Given the description of an element on the screen output the (x, y) to click on. 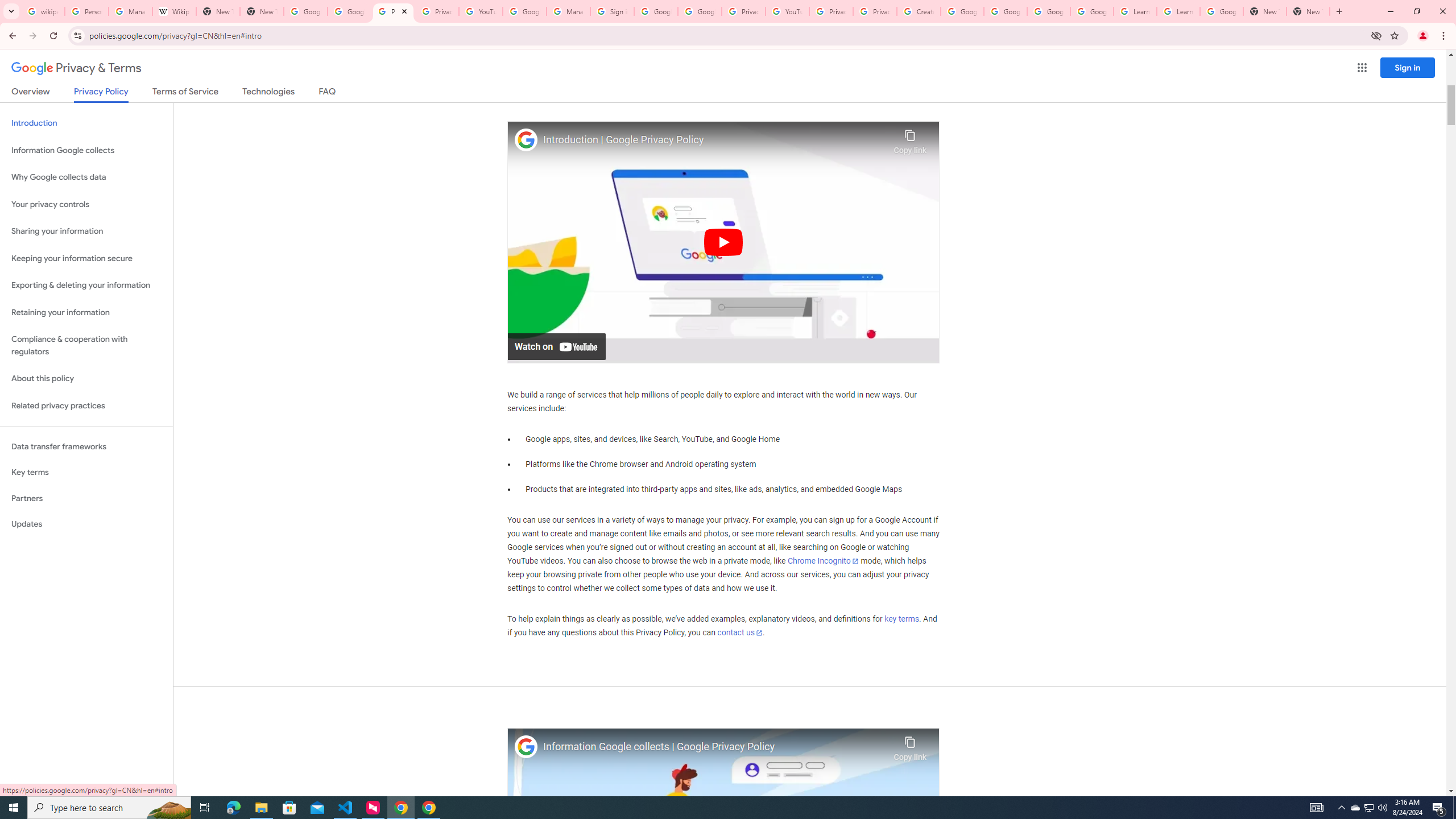
Photo image of Google (526, 746)
Why Google collects data (86, 176)
About this policy (86, 379)
Watch on YouTube (556, 346)
New Tab (1264, 11)
